Given the description of an element on the screen output the (x, y) to click on. 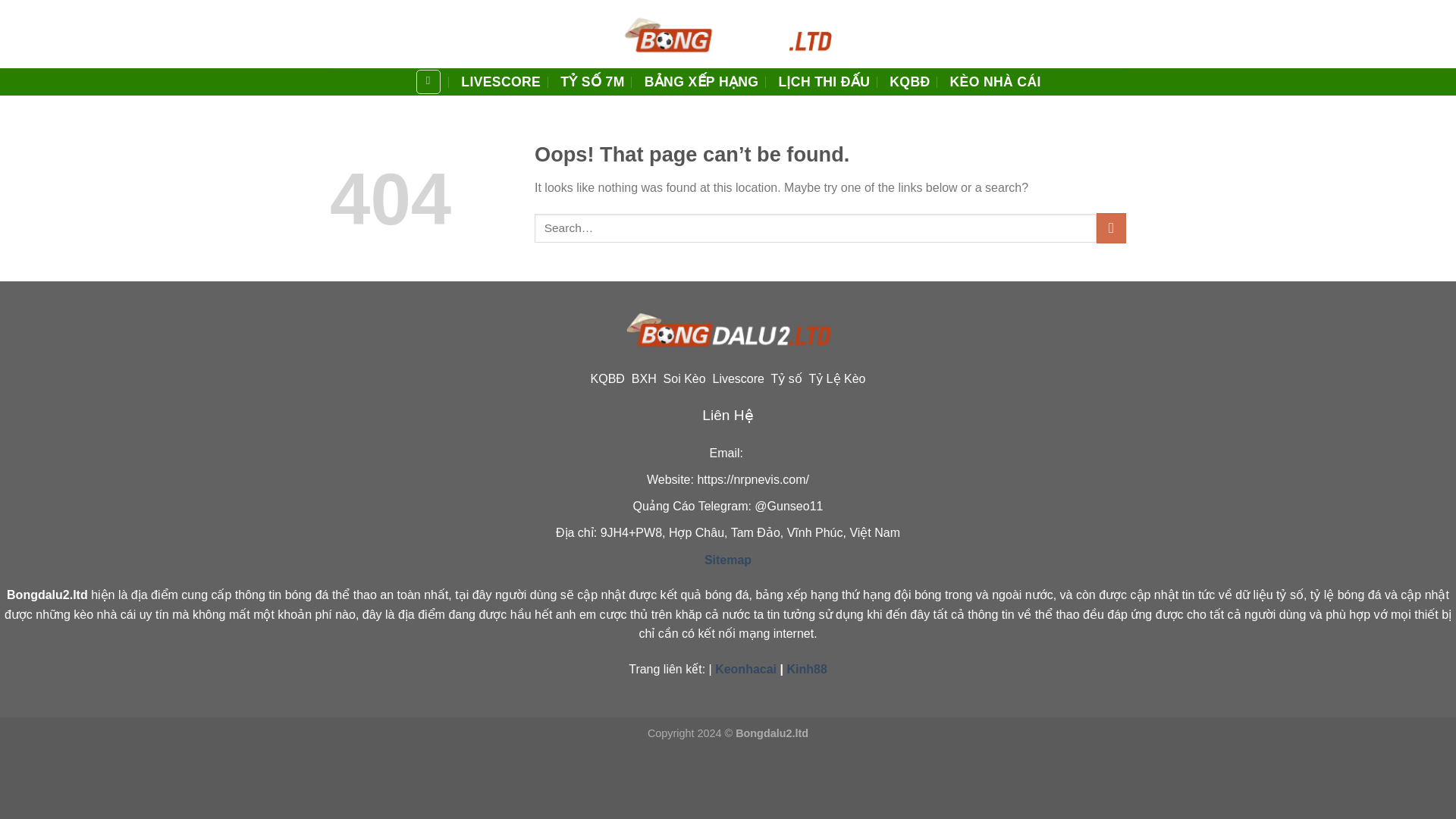
LIVESCORE (500, 81)
Keonhacai (745, 668)
Kinh88 (806, 668)
Sitemap (727, 559)
bongdalu2 (727, 33)
